Given the description of an element on the screen output the (x, y) to click on. 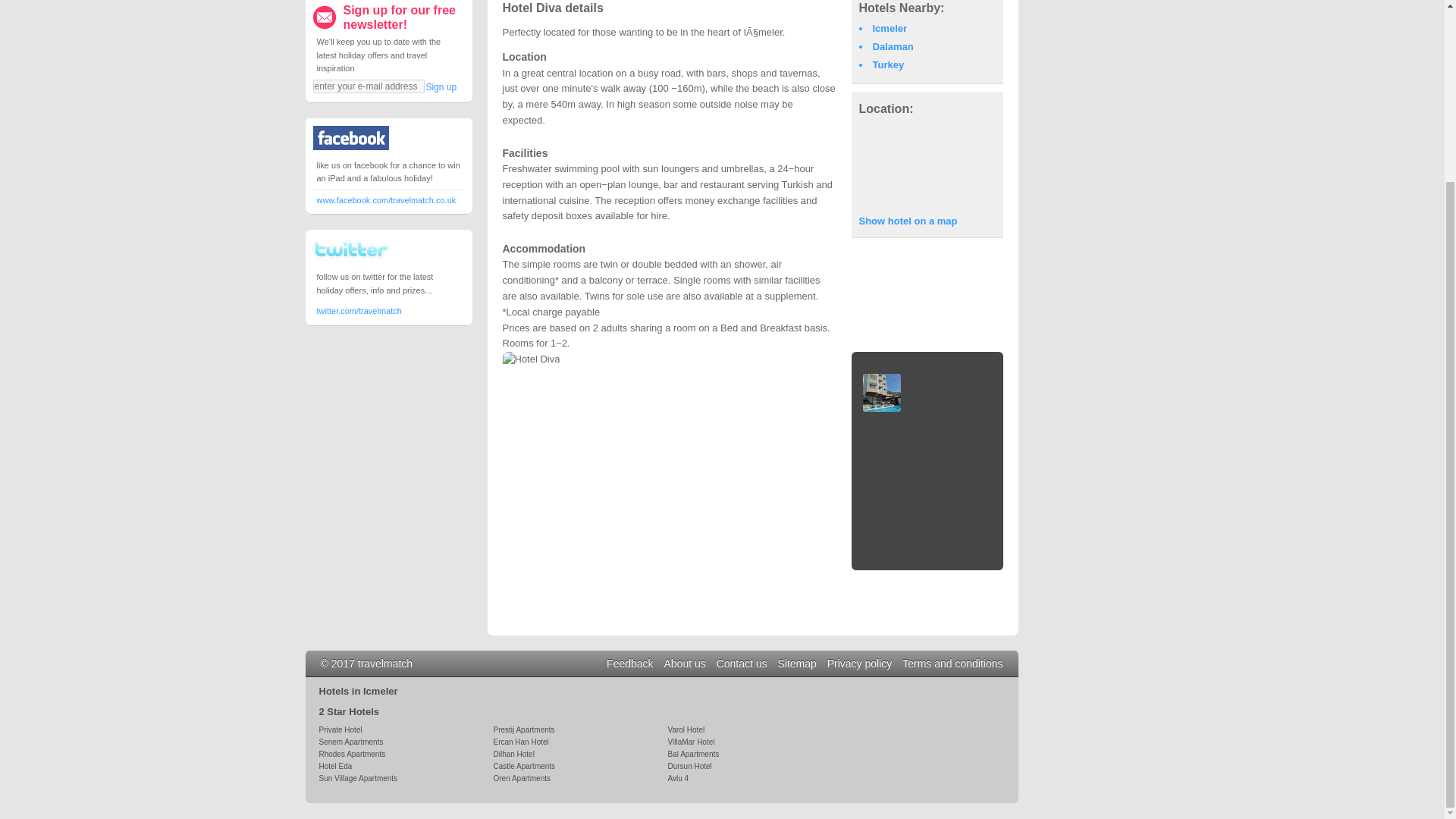
Dalaman (892, 46)
Senem Apartments (350, 741)
Turkey (888, 64)
Sign up (441, 86)
Private Hotel (339, 729)
Show hotel on a map (907, 220)
Icmeler (889, 28)
Prestij Apartments (523, 729)
resort location on map (926, 163)
Hotel Diva Photo (881, 392)
